Given the description of an element on the screen output the (x, y) to click on. 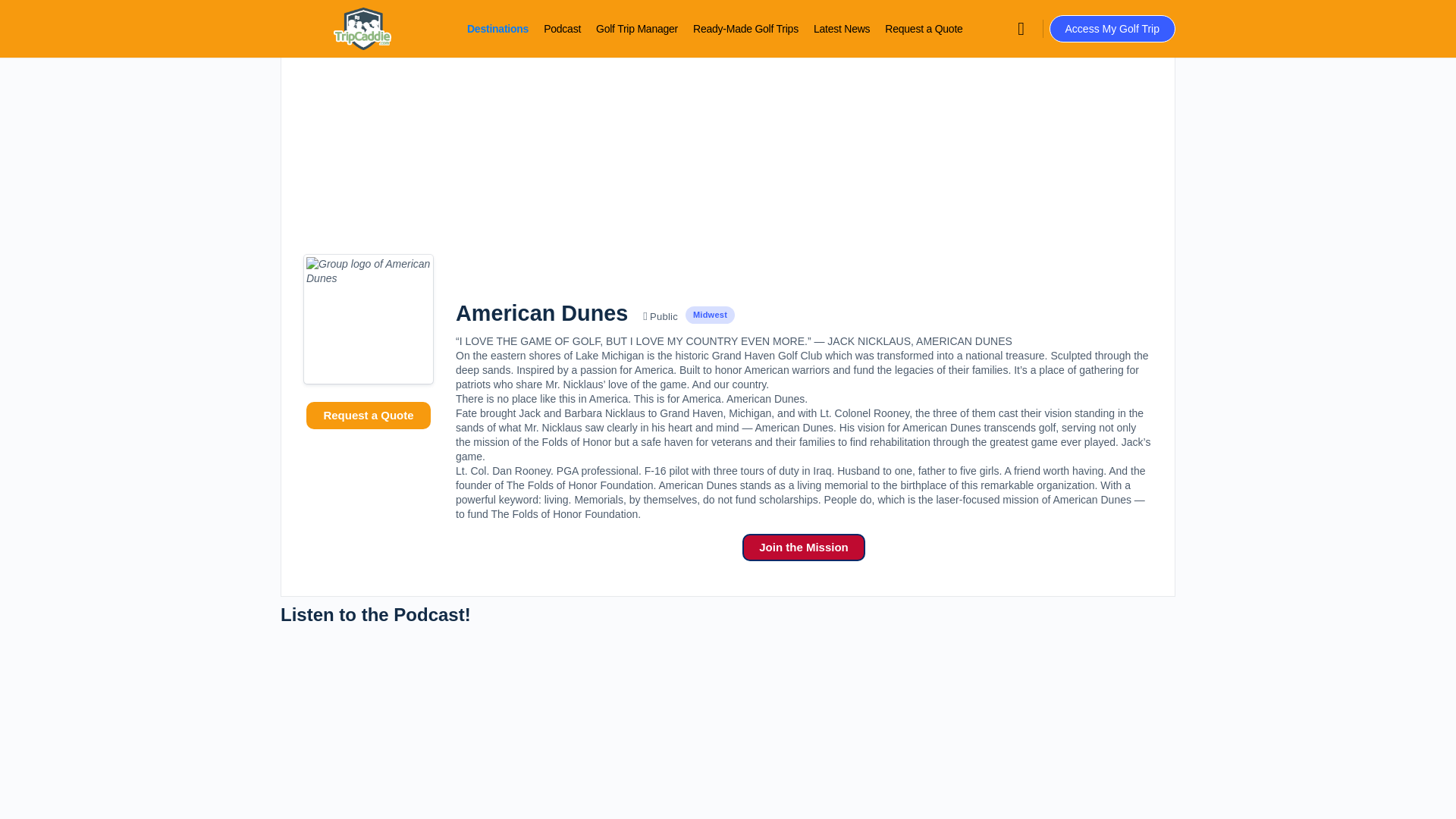
Join the Mission (803, 547)
Request a Quote (923, 28)
Request a Quote (367, 415)
Golf Trip Manager (636, 28)
Destinations (497, 28)
Access My Golf Trip (1111, 28)
Latest News (841, 28)
Ready-Made Golf Trips (745, 28)
